Given the description of an element on the screen output the (x, y) to click on. 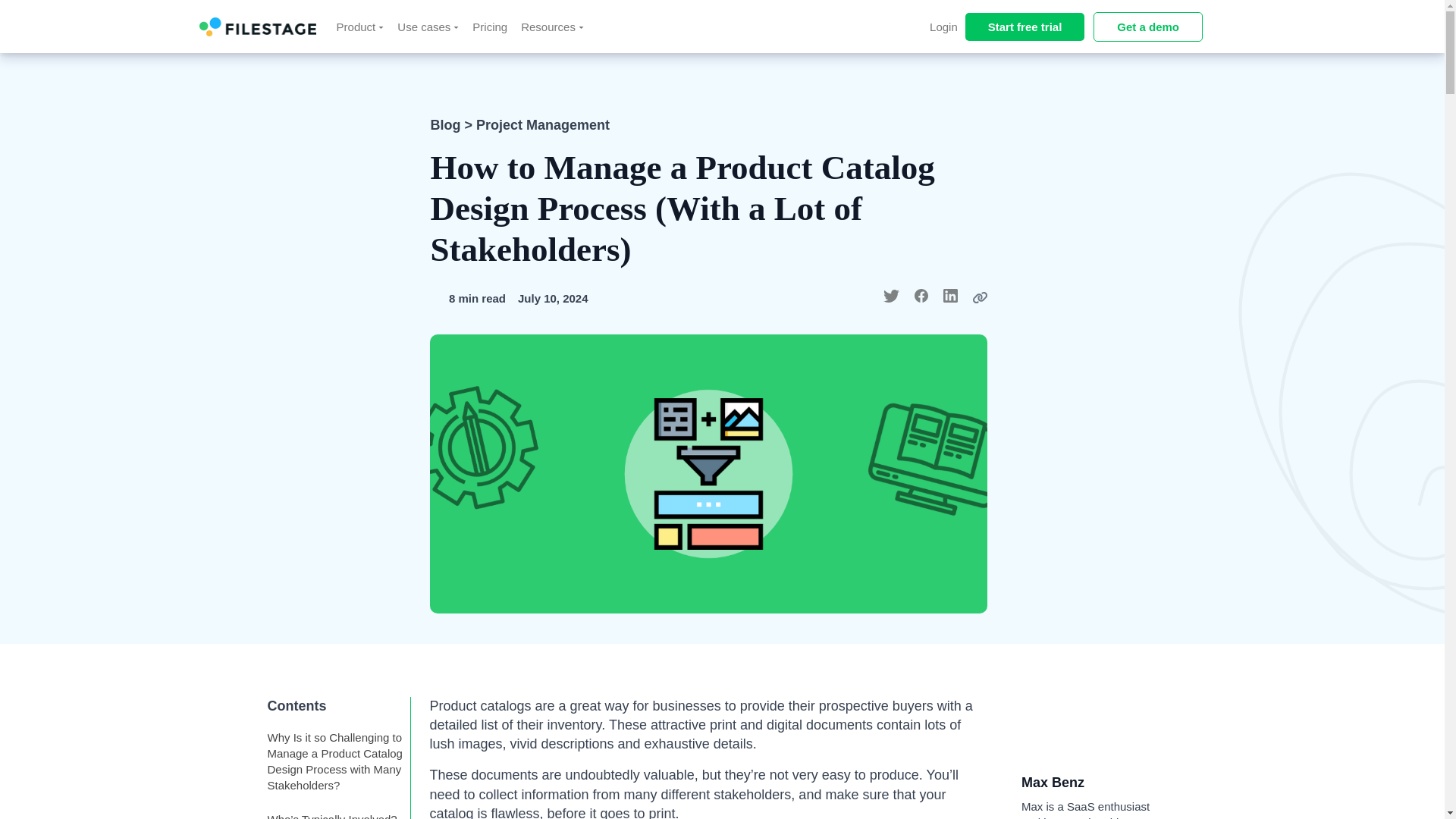
Product (360, 25)
Use cases (427, 25)
Pricing (489, 25)
Product (360, 25)
Resources (552, 25)
Use cases (427, 25)
